Given the description of an element on the screen output the (x, y) to click on. 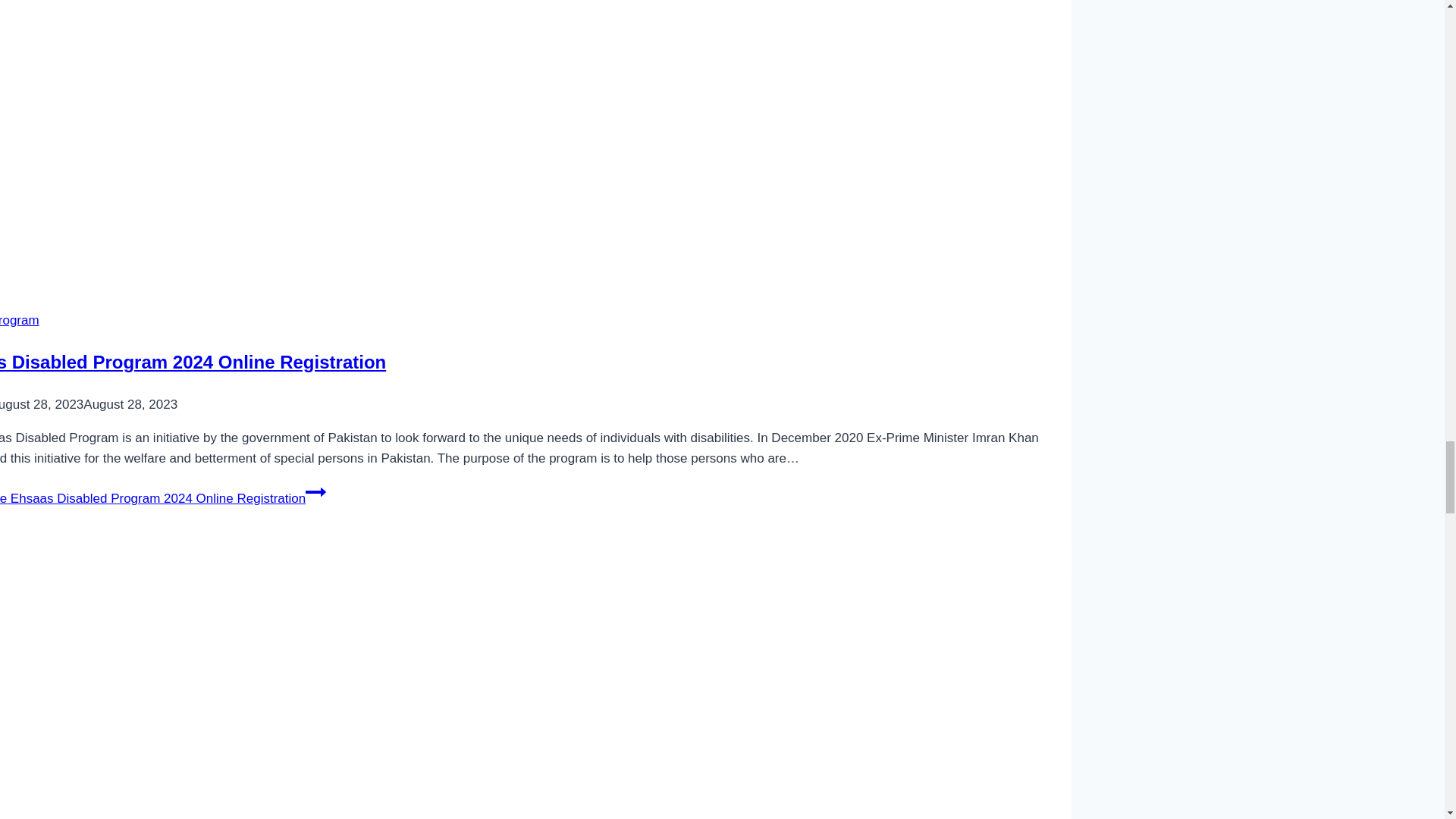
Continue (315, 491)
Ehsaas Disabled Program 2024 Online Registration (192, 362)
Ehsaas Program (19, 319)
